Given the description of an element on the screen output the (x, y) to click on. 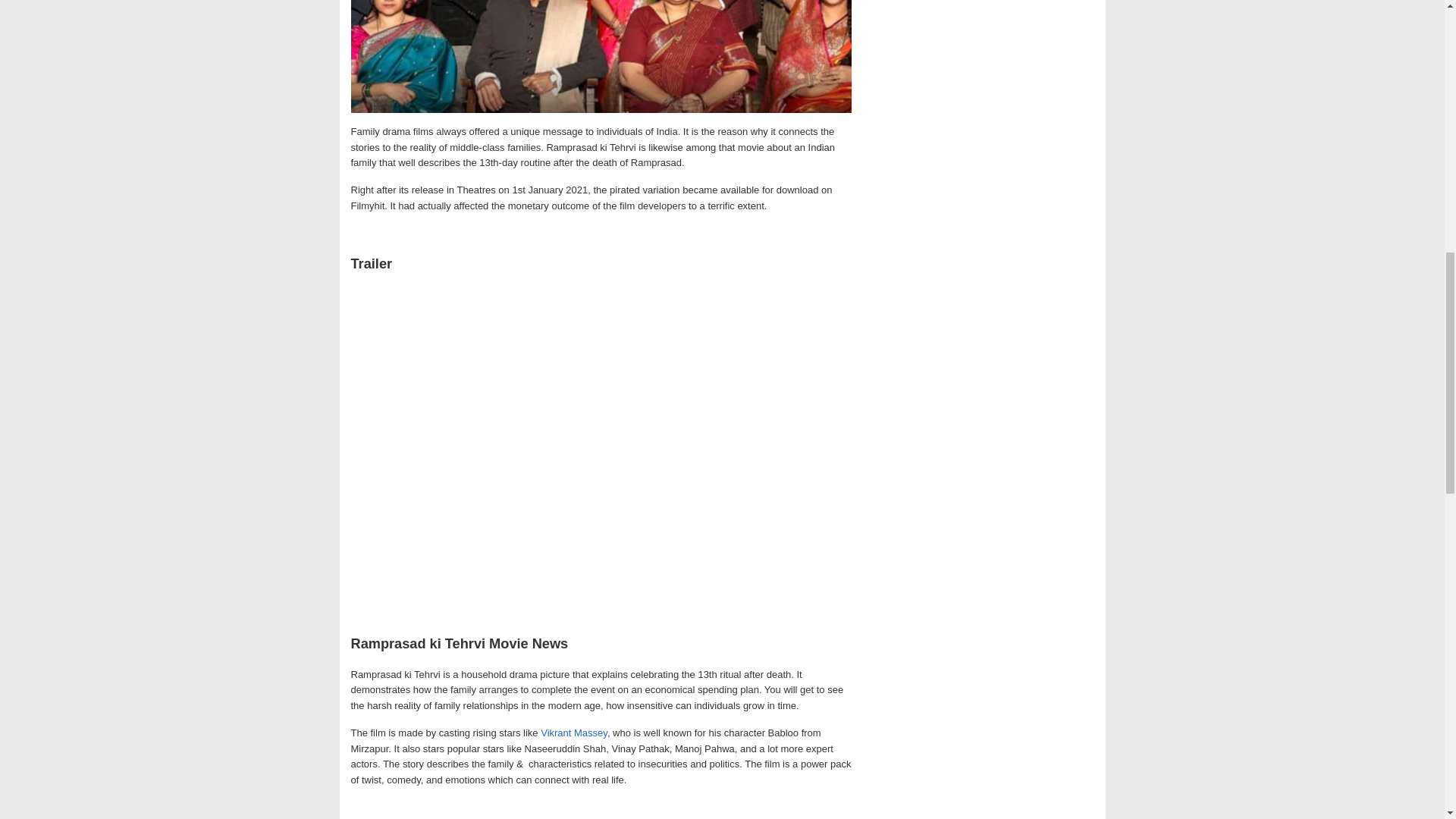
Vikrant Massey (572, 732)
